Given the description of an element on the screen output the (x, y) to click on. 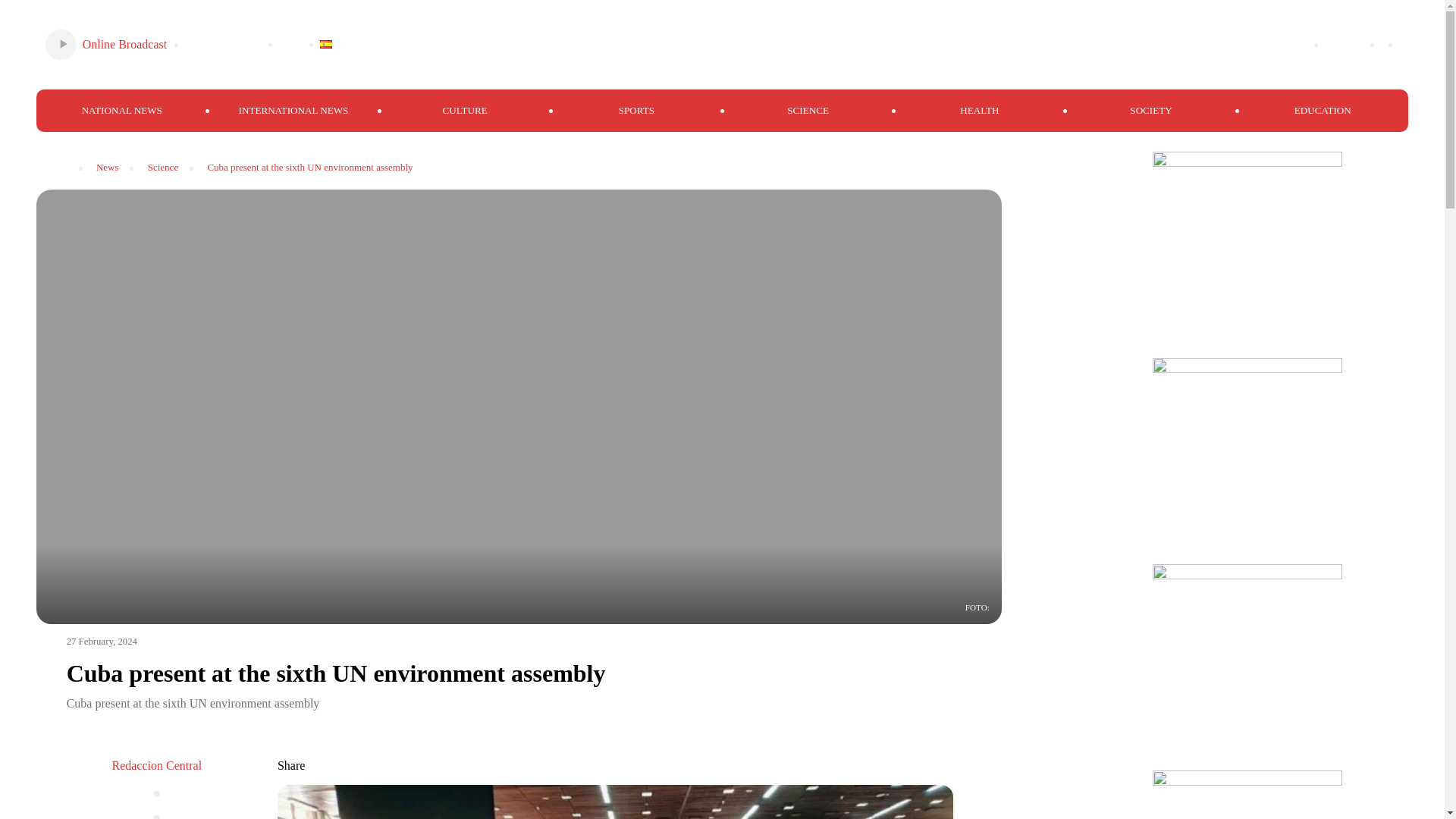
EDUCATION (1322, 110)
Redaccion Central (157, 765)
INTERNATIONAL NEWS (292, 110)
Clima (290, 44)
Science (162, 167)
SCIENCE (806, 110)
Search (1343, 44)
CULTURE (464, 110)
Youtube (1137, 44)
RSS (1290, 44)
Home (53, 160)
Telegram (1238, 44)
News (107, 167)
News (107, 167)
Cuba present at the sixth UN environment assembly (309, 167)
